Given the description of an element on the screen output the (x, y) to click on. 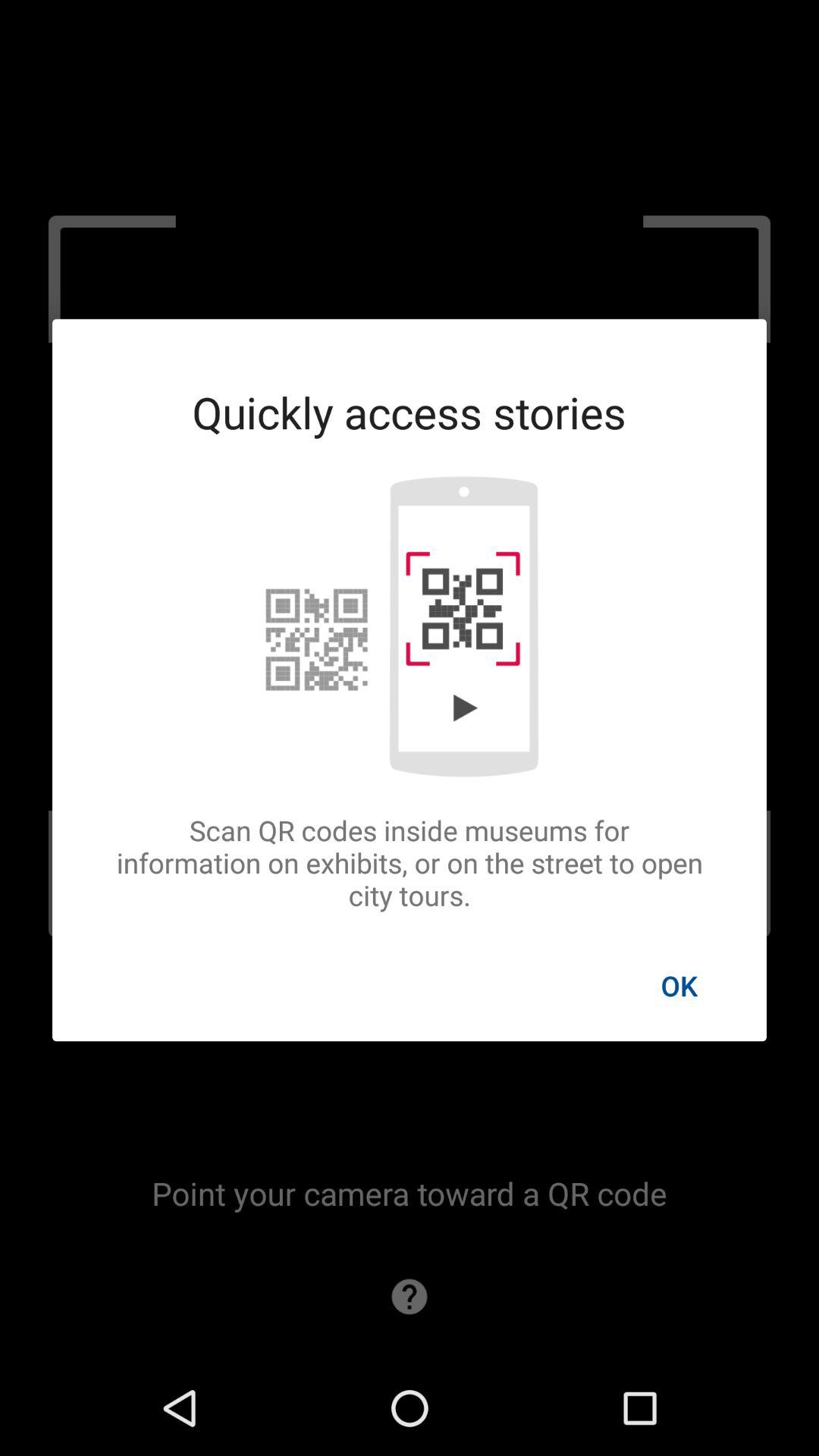
launch the ok (678, 985)
